Given the description of an element on the screen output the (x, y) to click on. 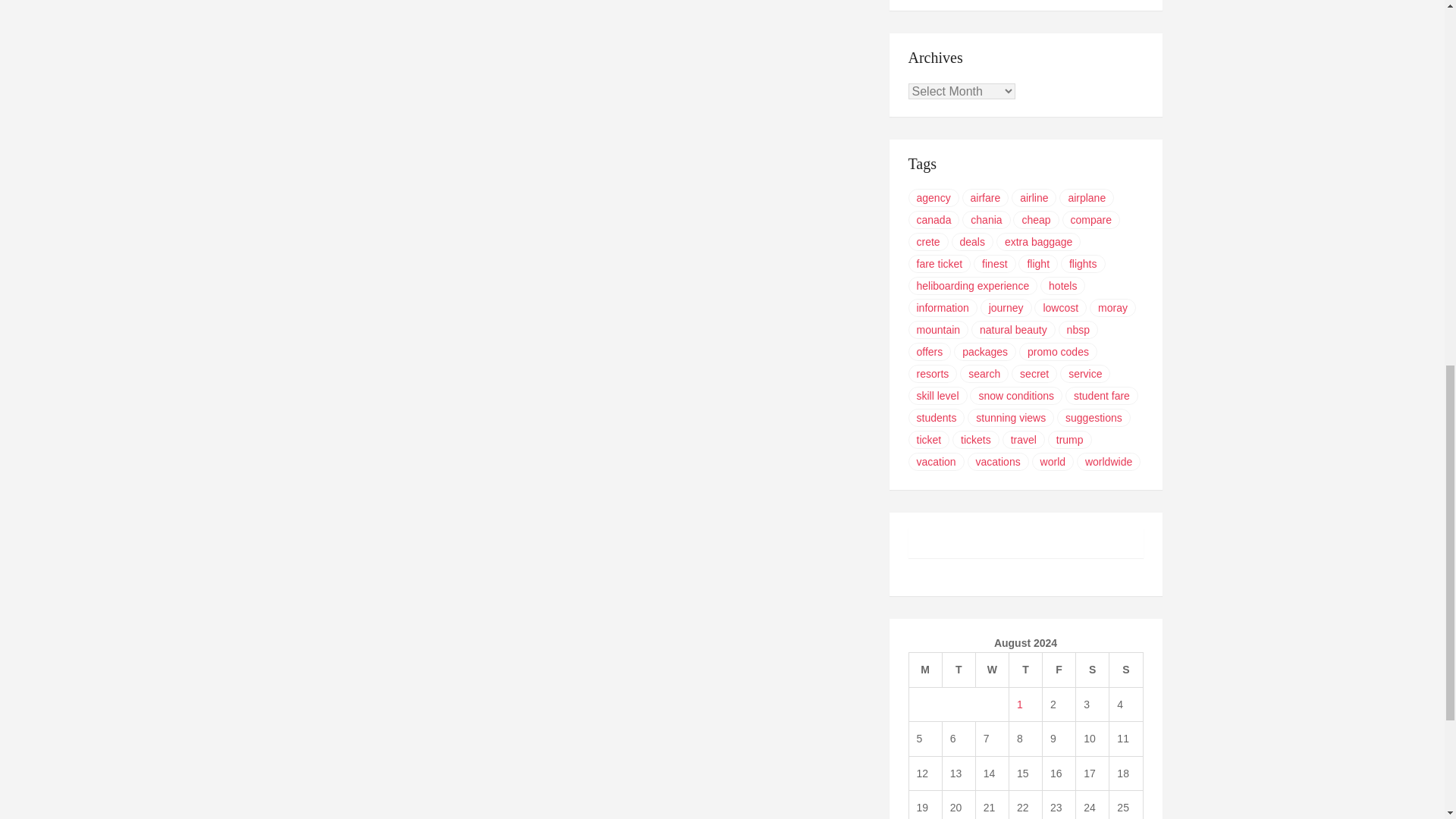
Monday (925, 669)
Wednesday (992, 669)
Sunday (1125, 669)
Tuesday (958, 669)
Friday (1058, 669)
Saturday (1092, 669)
Thursday (1025, 669)
